Given the description of an element on the screen output the (x, y) to click on. 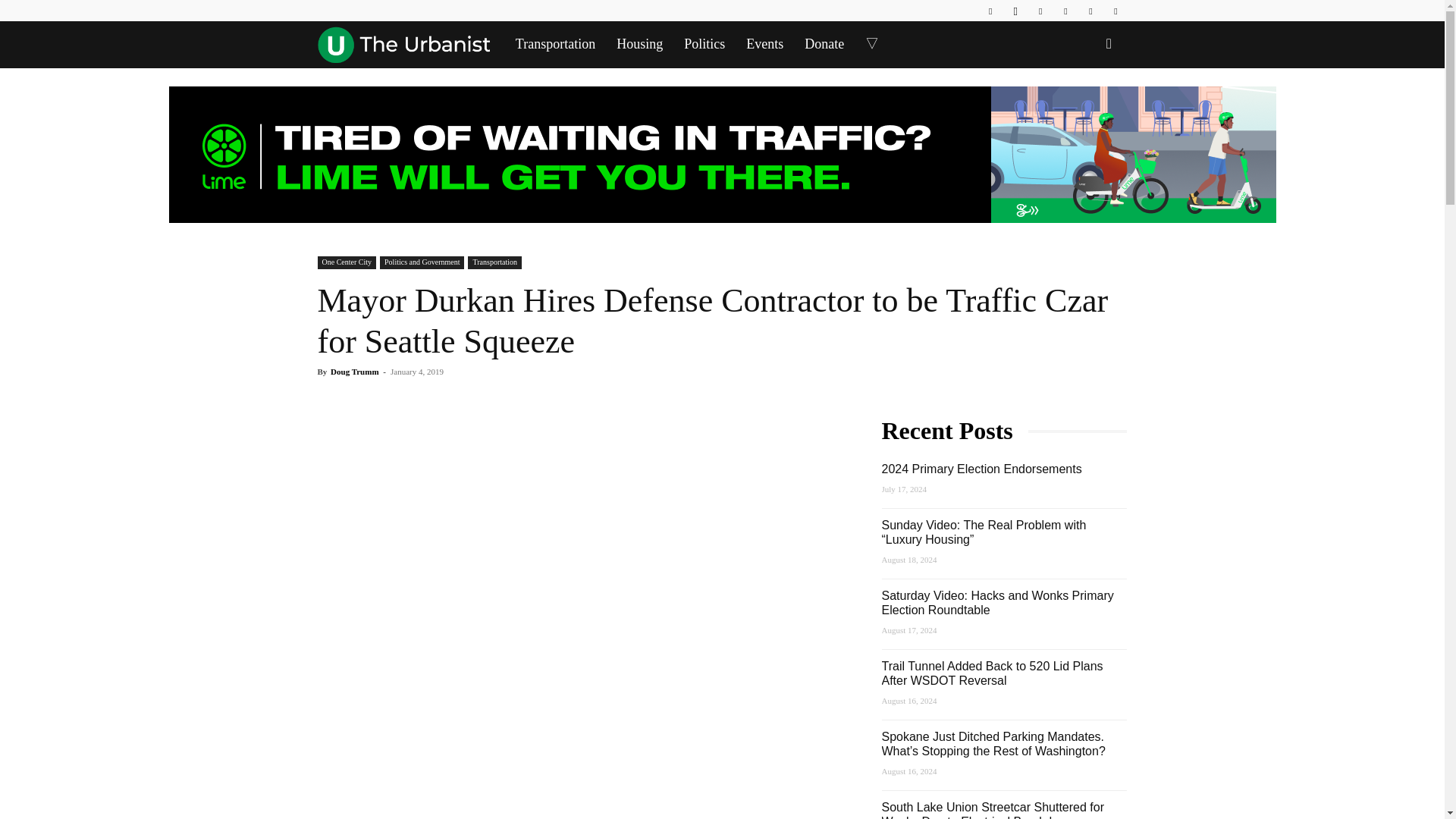
Linkedin (1040, 10)
Youtube (1114, 10)
RSS (1065, 10)
Facebook (989, 10)
Instagram (1015, 10)
Twitter (1090, 10)
